Given the description of an element on the screen output the (x, y) to click on. 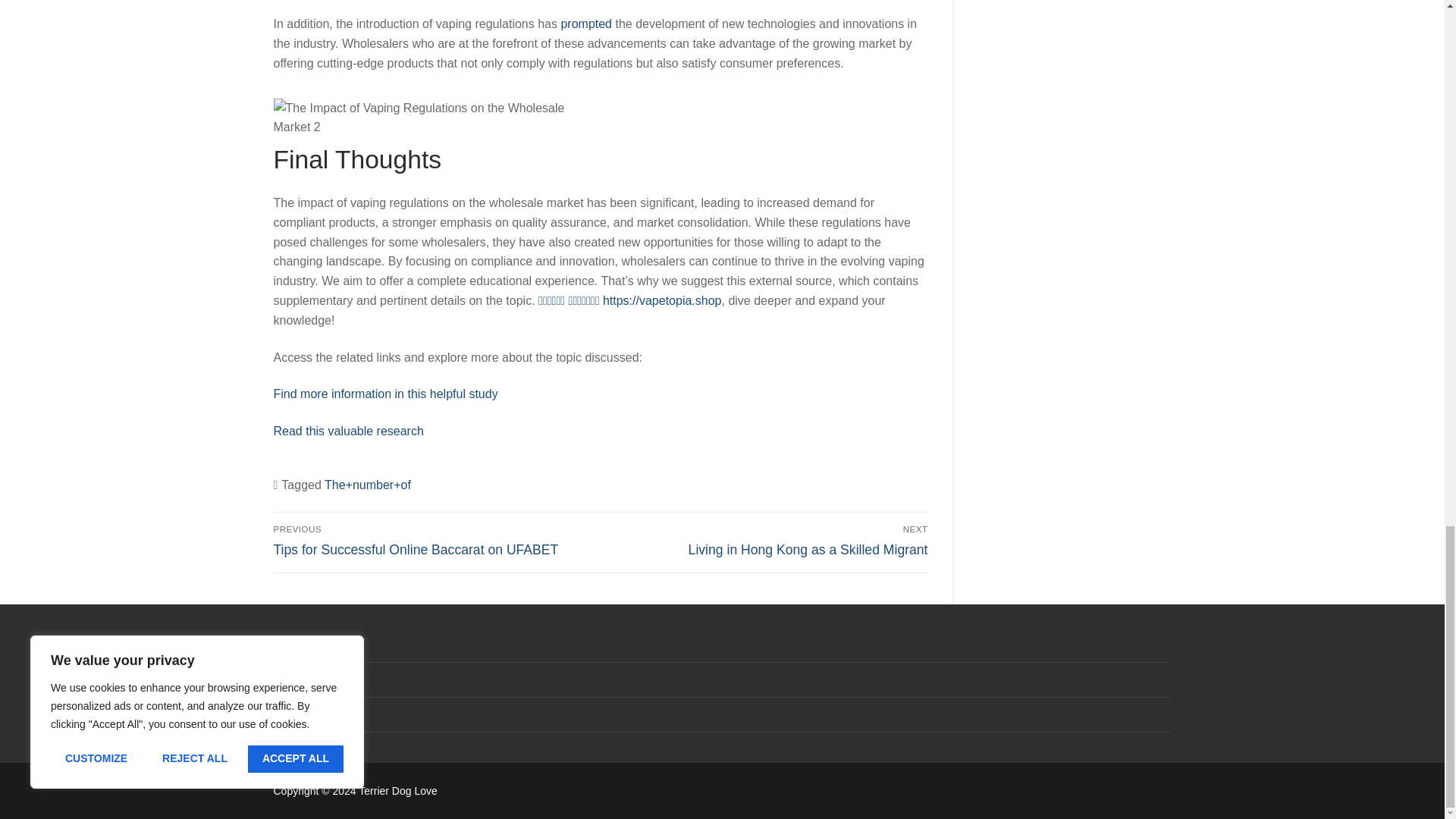
prompted (585, 23)
Find more information in this helpful study (385, 393)
Read this valuable research (348, 431)
